Given the description of an element on the screen output the (x, y) to click on. 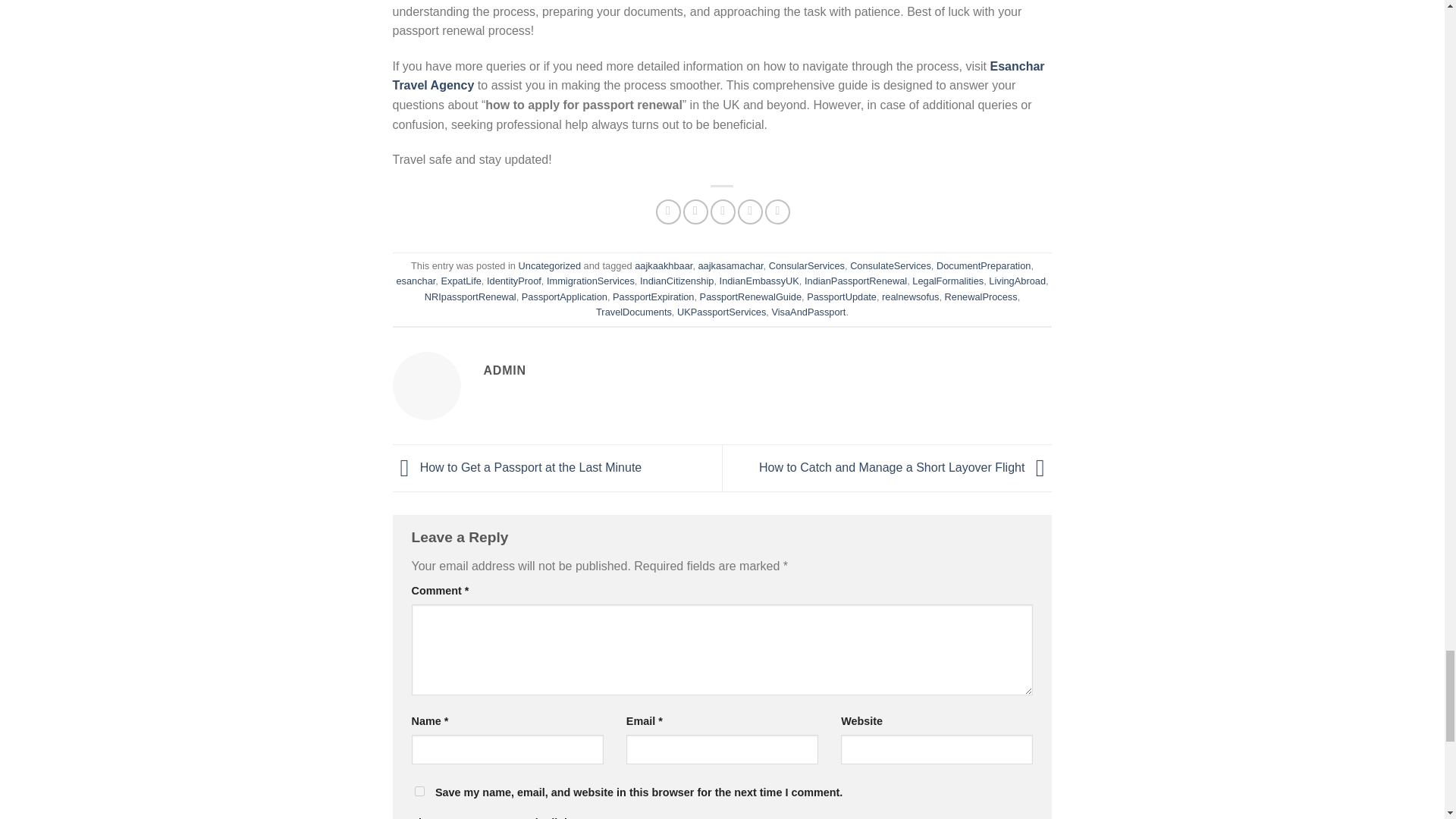
Share on Facebook (668, 211)
IdentityProof (513, 280)
NRIpassportRenewal (470, 296)
Pin on Pinterest (750, 211)
ConsulateServices (890, 265)
IndianEmbassyUK (759, 280)
Esanchar Travel Agency (719, 75)
Share on Twitter (694, 211)
yes (418, 791)
Uncategorized (549, 265)
LivingAbroad (1016, 280)
esanchar (415, 280)
aajkasamachar (729, 265)
aajkaakhbaar (663, 265)
ExpatLife (460, 280)
